Given the description of an element on the screen output the (x, y) to click on. 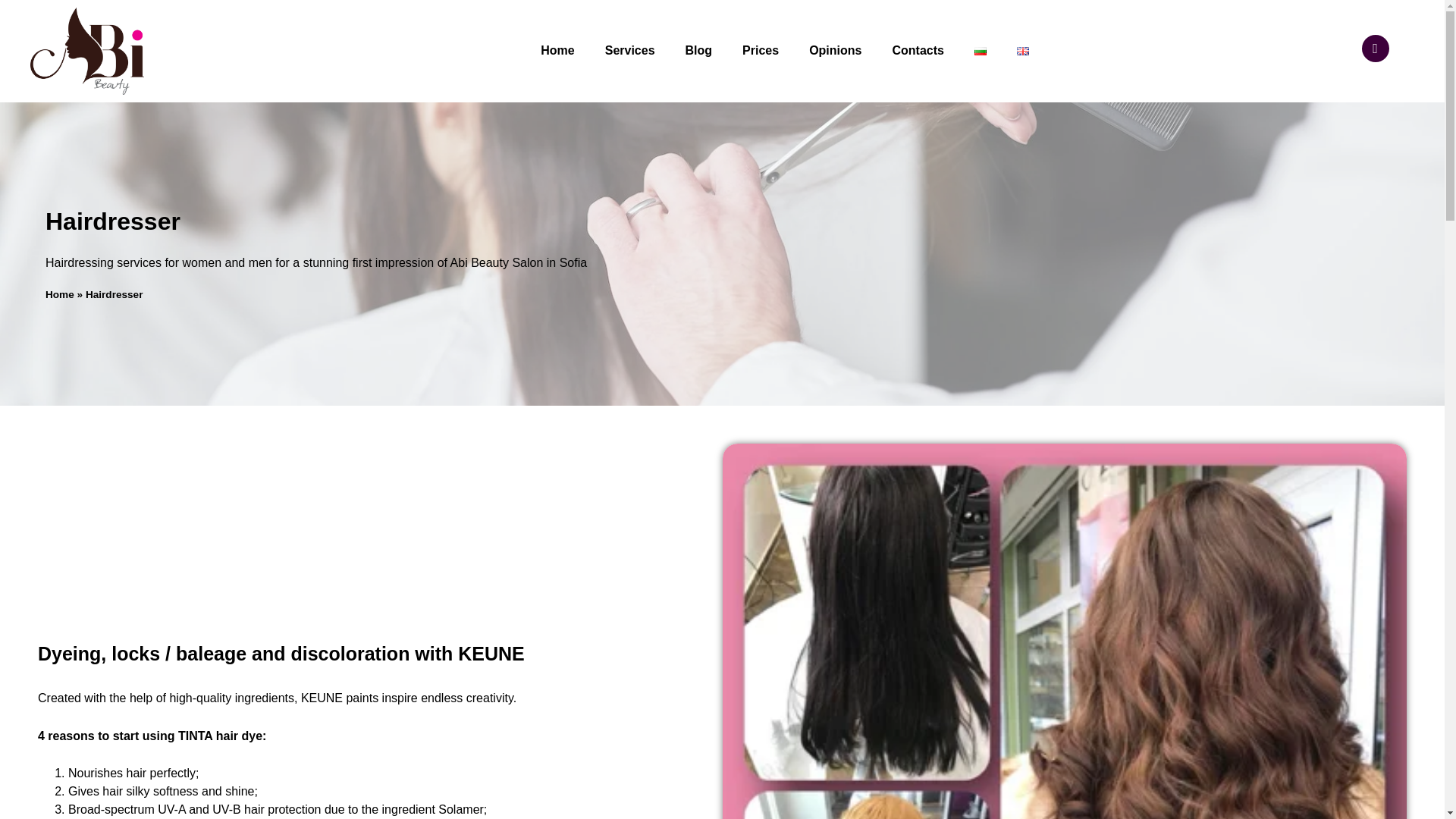
Prices (759, 50)
Services (629, 50)
Contacts (917, 50)
Blog (698, 50)
Home (557, 50)
Opinions (834, 50)
